Given the description of an element on the screen output the (x, y) to click on. 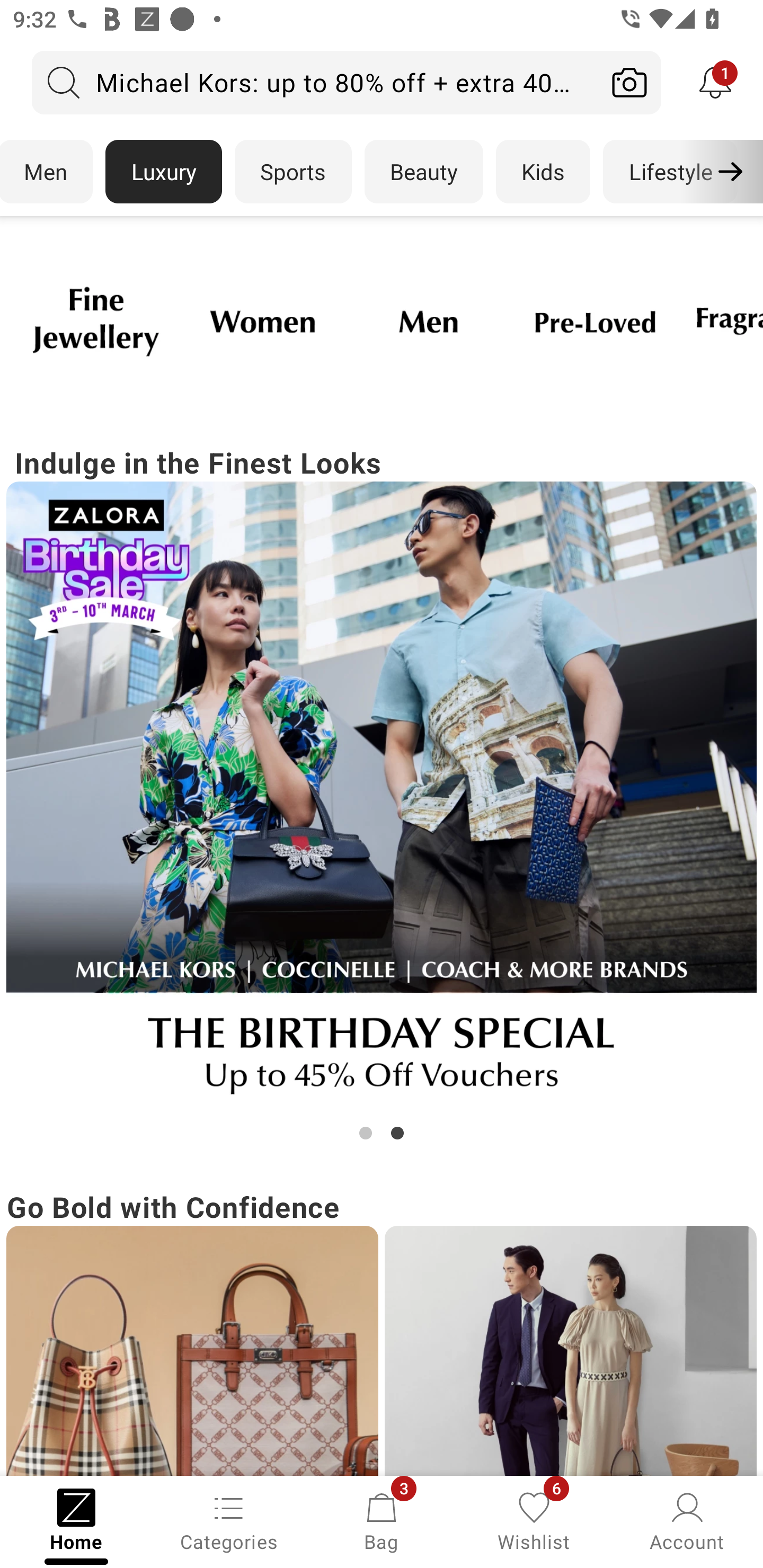
Michael Kors: up to 80% off + extra 40% off (314, 82)
Men (46, 171)
Luxury (163, 171)
Sports (293, 171)
Beauty (423, 171)
Kids (542, 171)
Lifestyle (669, 171)
Campaign banner (95, 321)
Campaign banner (261, 321)
Campaign banner (428, 321)
Campaign banner (594, 321)
 Indulge in the Finest Looks Campaign banner (381, 792)
Campaign banner (381, 797)
Campaign banner (192, 1350)
Campaign banner (570, 1350)
Categories (228, 1519)
Bag, 3 new notifications Bag (381, 1519)
Wishlist, 6 new notifications Wishlist (533, 1519)
Account (686, 1519)
